Given the description of an element on the screen output the (x, y) to click on. 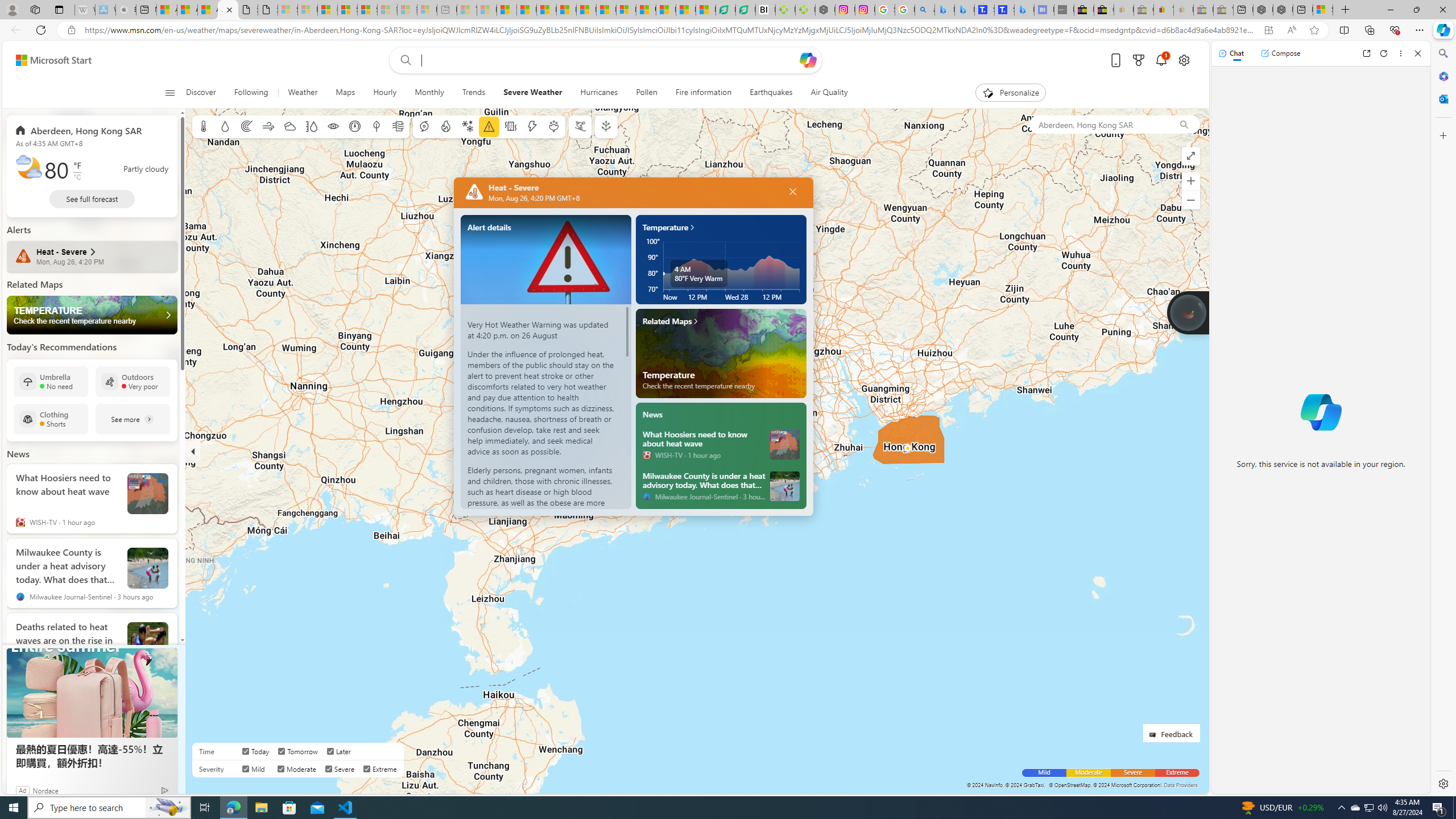
Microsoft Bing Travel - Flights from Hong Kong to Bangkok (944, 9)
Enter your search term (608, 59)
Food and Drink - MSN (526, 9)
Hourly (384, 92)
Ski conditions (579, 126)
